Given the description of an element on the screen output the (x, y) to click on. 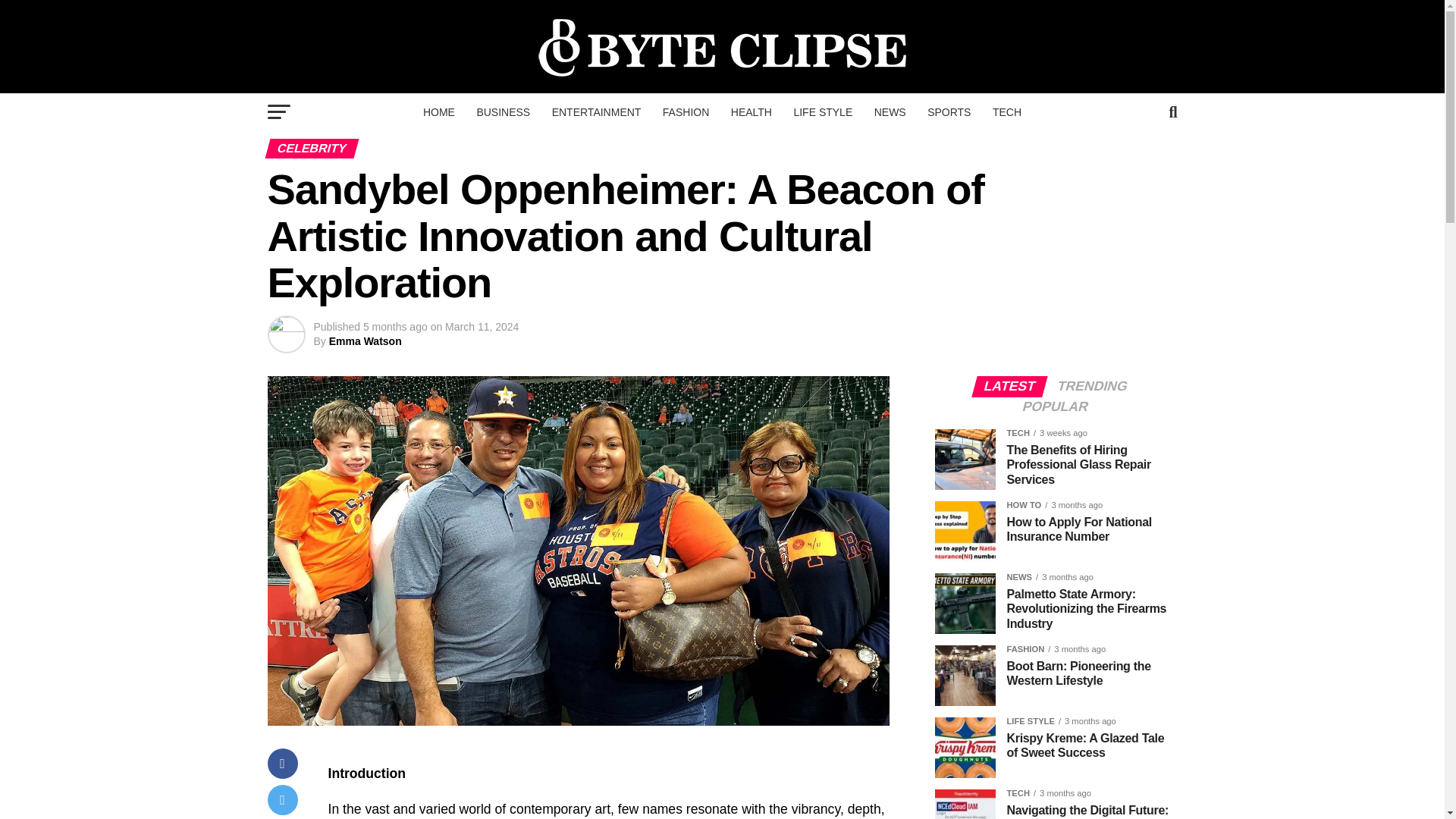
NEWS (889, 112)
HOME (438, 112)
LIFE STYLE (822, 112)
HEALTH (751, 112)
Posts by Emma Watson (365, 340)
ENTERTAINMENT (596, 112)
BUSINESS (502, 112)
FASHION (685, 112)
